Given the description of an element on the screen output the (x, y) to click on. 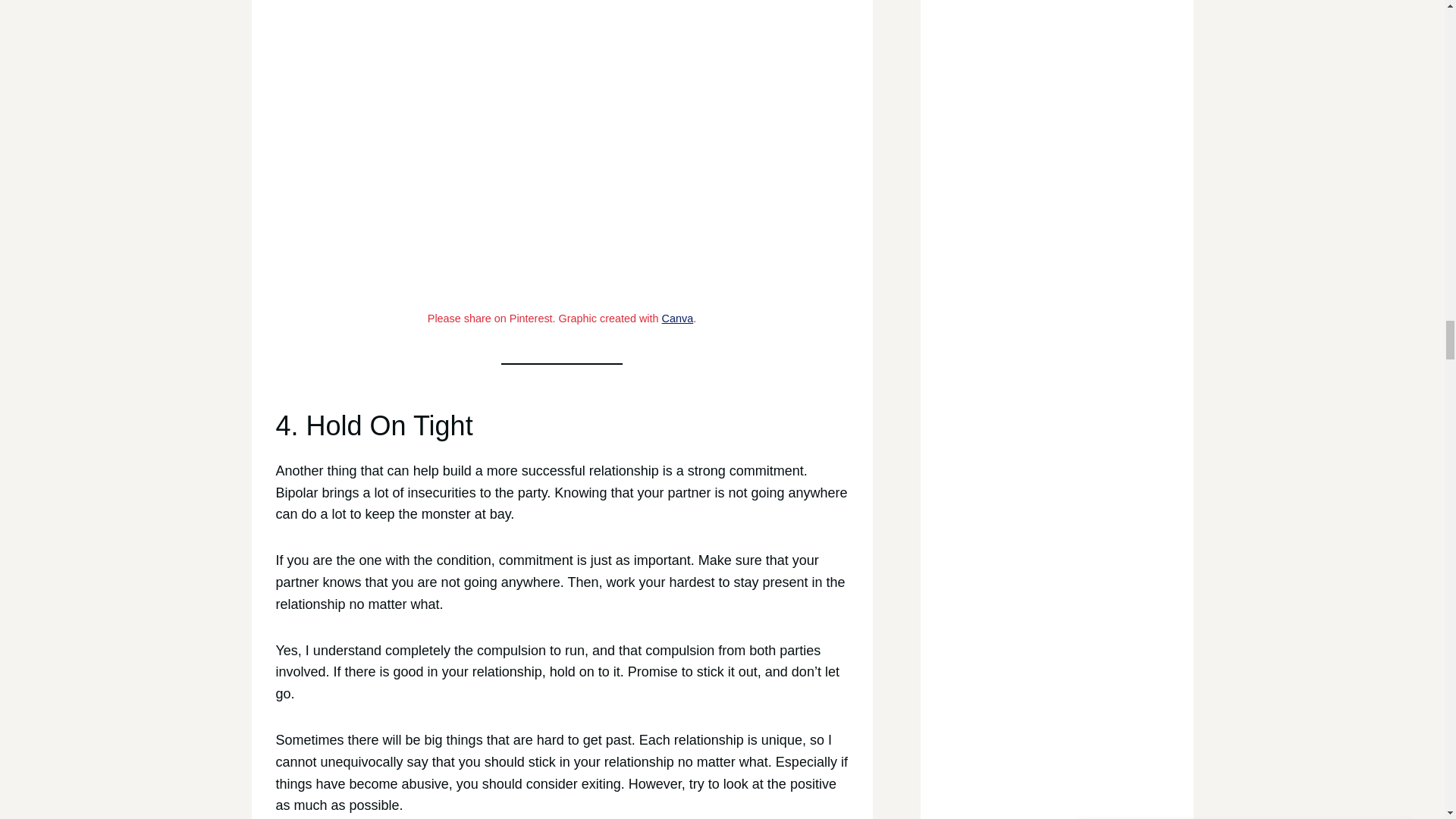
Canva (678, 318)
